Given the description of an element on the screen output the (x, y) to click on. 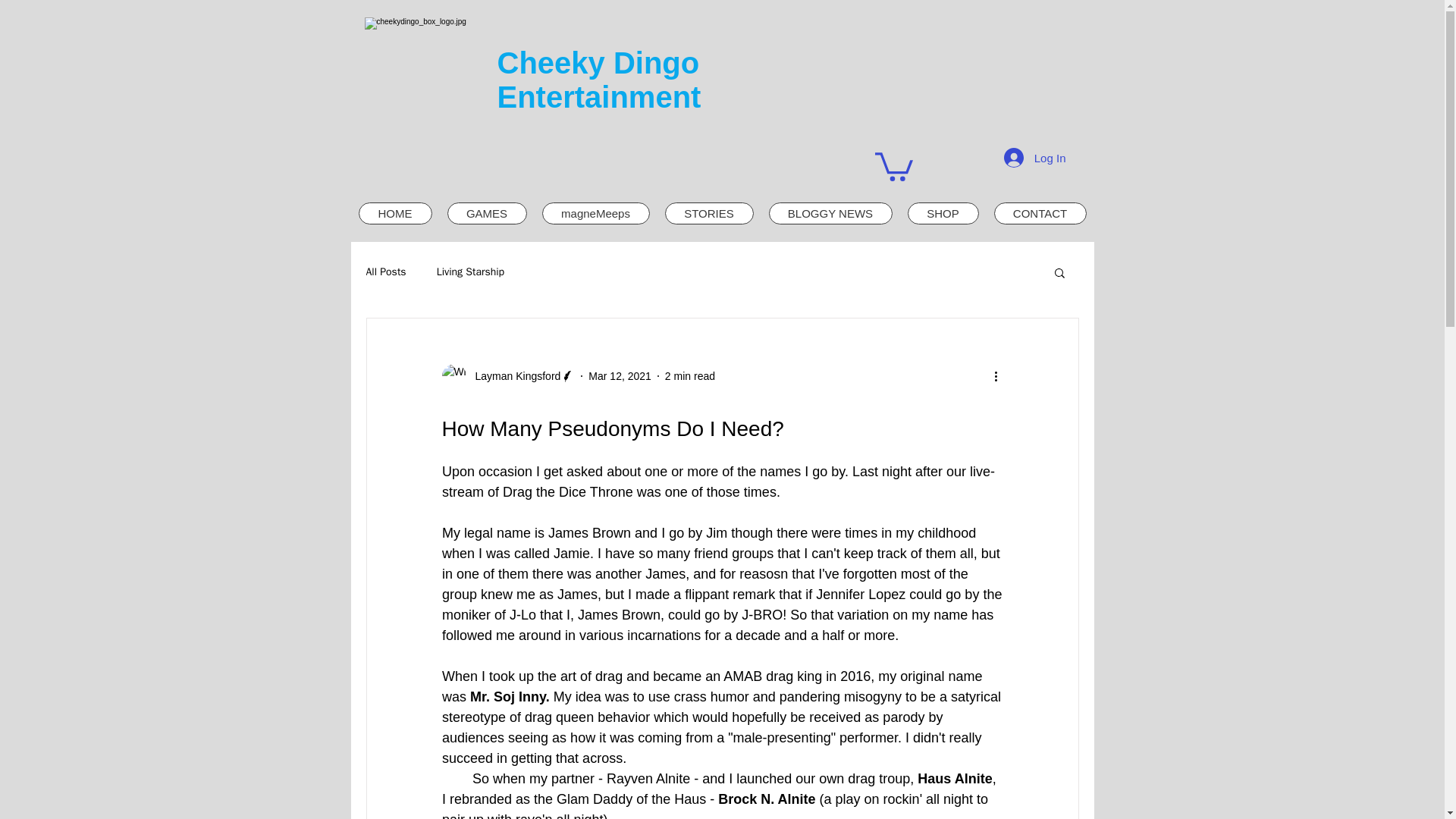
2 min read (689, 376)
magneMeeps (595, 213)
Layman Kingsford (508, 375)
Layman Kingsford (512, 376)
GAMES (486, 213)
Living Starship (469, 272)
SHOP (942, 213)
Log In (1034, 157)
HOME (394, 213)
Cheeky Dingo Entertainment (599, 79)
STORIES (707, 213)
Mar 12, 2021 (619, 376)
CONTACT (1039, 213)
All Posts (385, 272)
BLOGGY NEWS (830, 213)
